Given the description of an element on the screen output the (x, y) to click on. 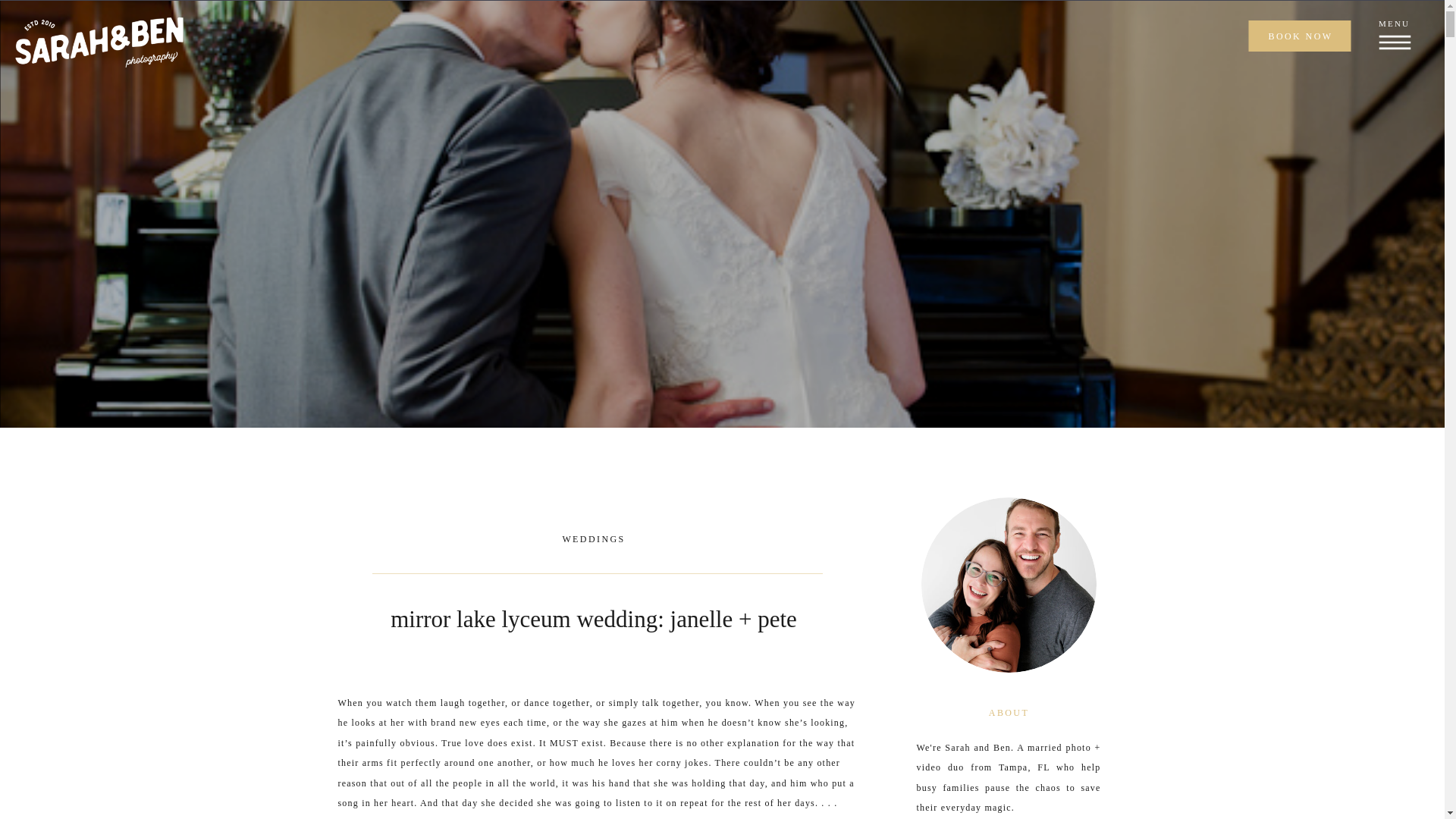
BOOK NOW (1299, 35)
WEDDINGS (593, 538)
